Given the description of an element on the screen output the (x, y) to click on. 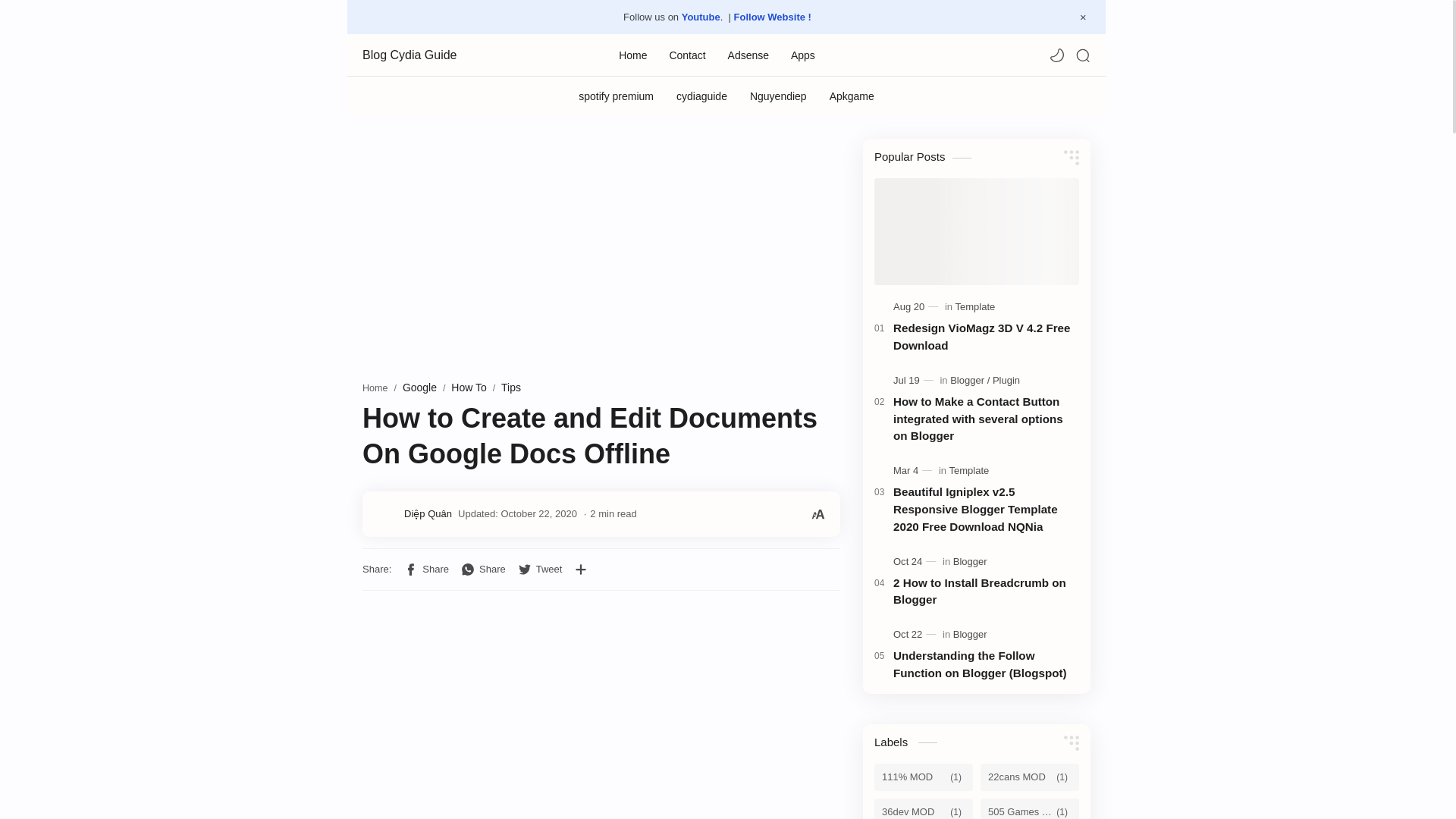
Last updated: October 22, 2020 (517, 513)
Youtube (700, 16)
Blog Cydia Guide (437, 55)
Home (632, 54)
Contact (686, 54)
